Given the description of an element on the screen output the (x, y) to click on. 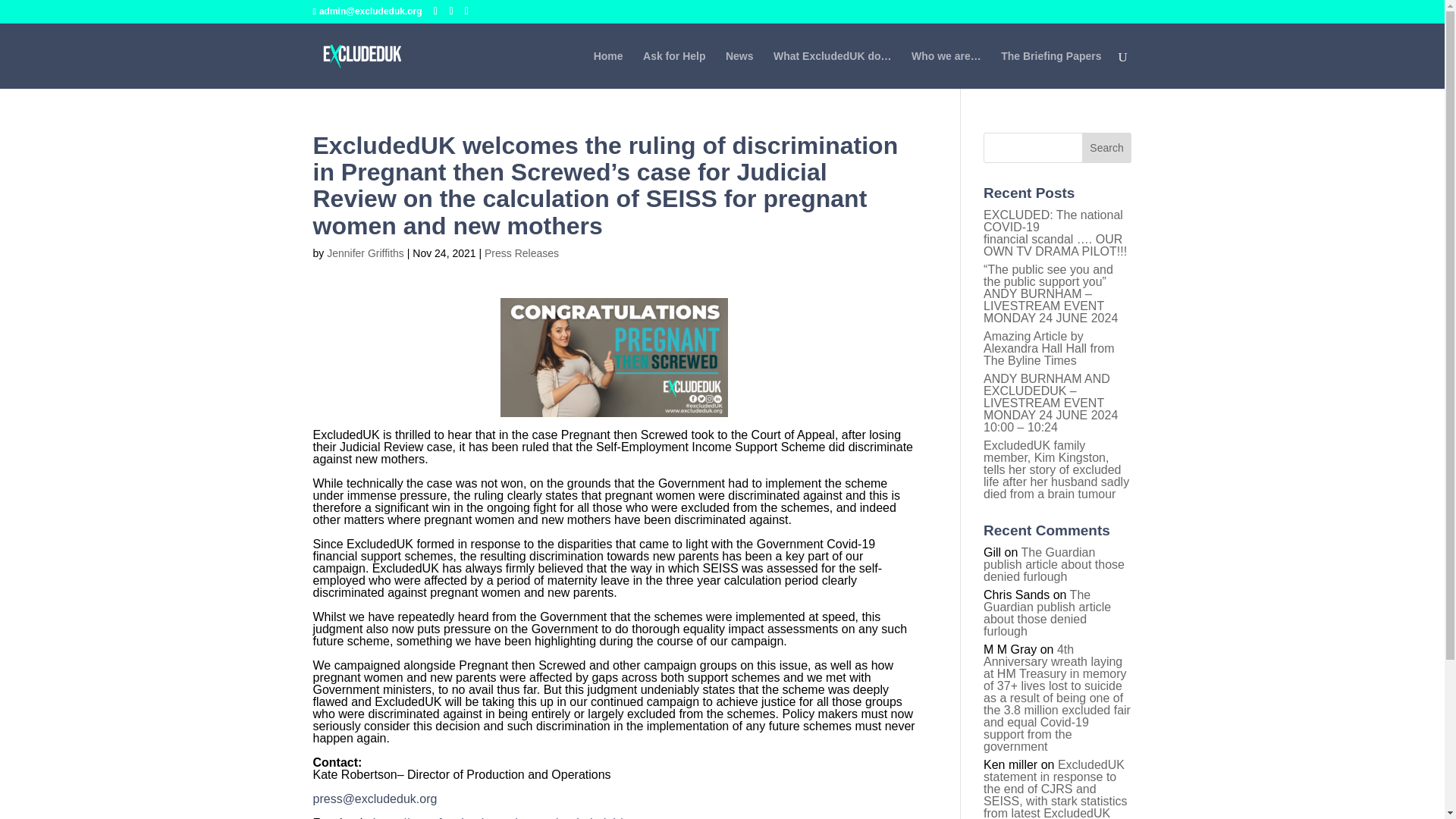
Ask for Help (673, 69)
Home (608, 69)
Amazing Article by Alexandra Hall Hall from The Byline Times (1049, 348)
The Briefing Papers (1050, 69)
Search (1106, 147)
Posts by Jennifer Griffiths (365, 253)
Press Releases (521, 253)
The Guardian publish article about those denied furlough (1047, 613)
News (739, 69)
Jennifer Griffiths (365, 253)
The Guardian publish article about those denied furlough (1054, 564)
Search (1106, 147)
